Given the description of an element on the screen output the (x, y) to click on. 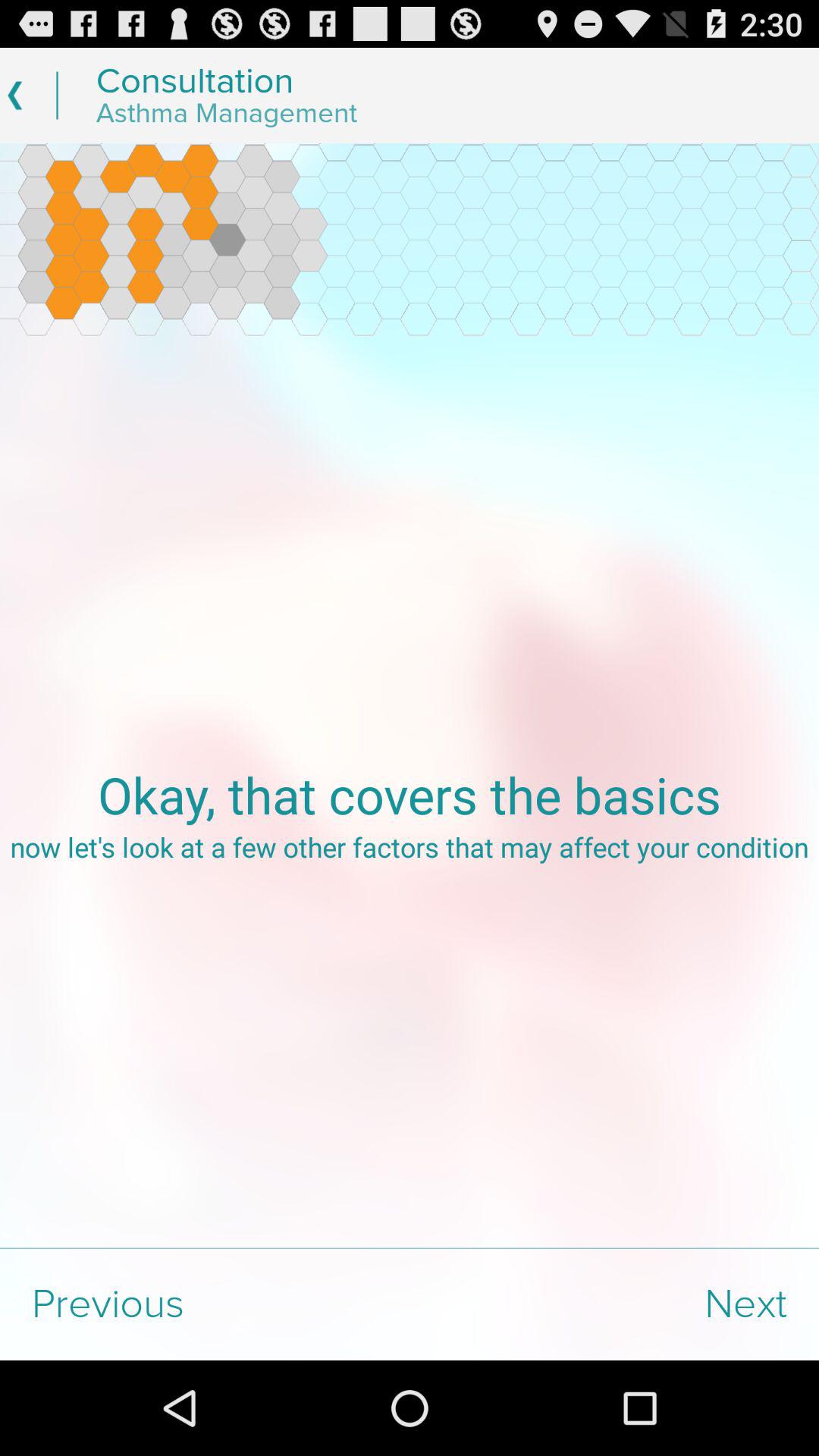
choose the app to the left of next icon (204, 1304)
